Given the description of an element on the screen output the (x, y) to click on. 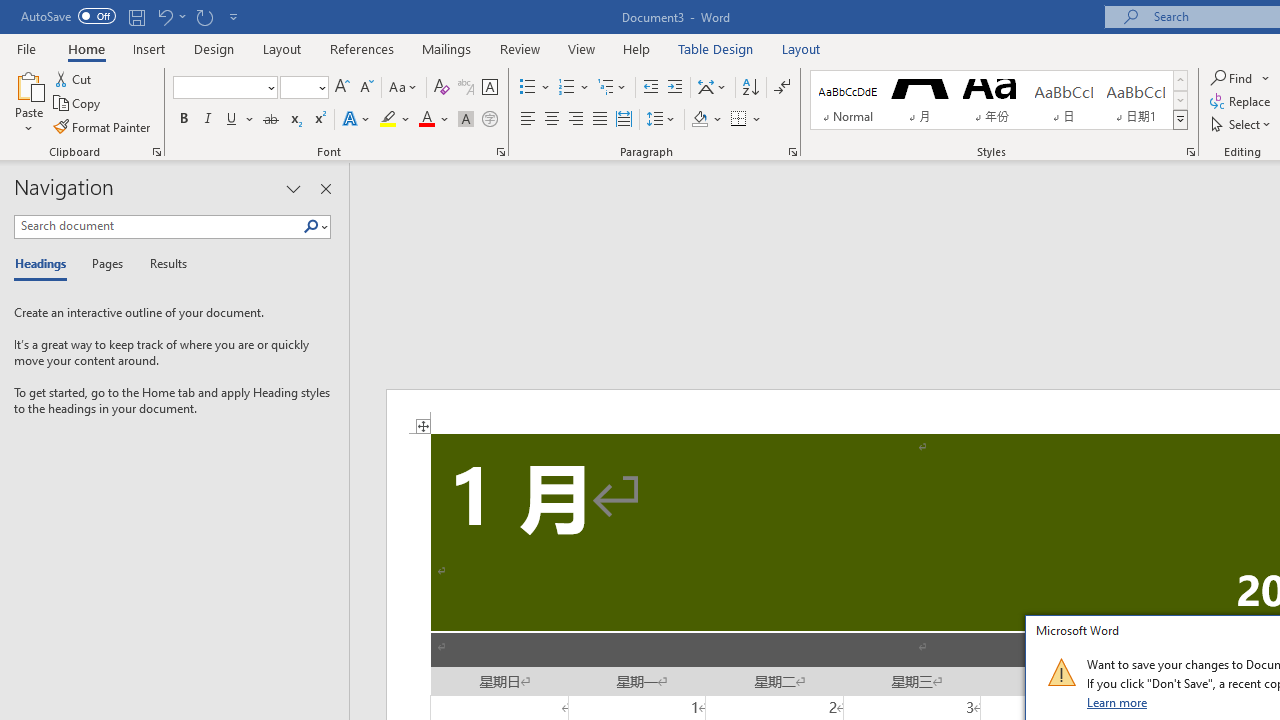
Repeat Style (204, 15)
